Given the description of an element on the screen output the (x, y) to click on. 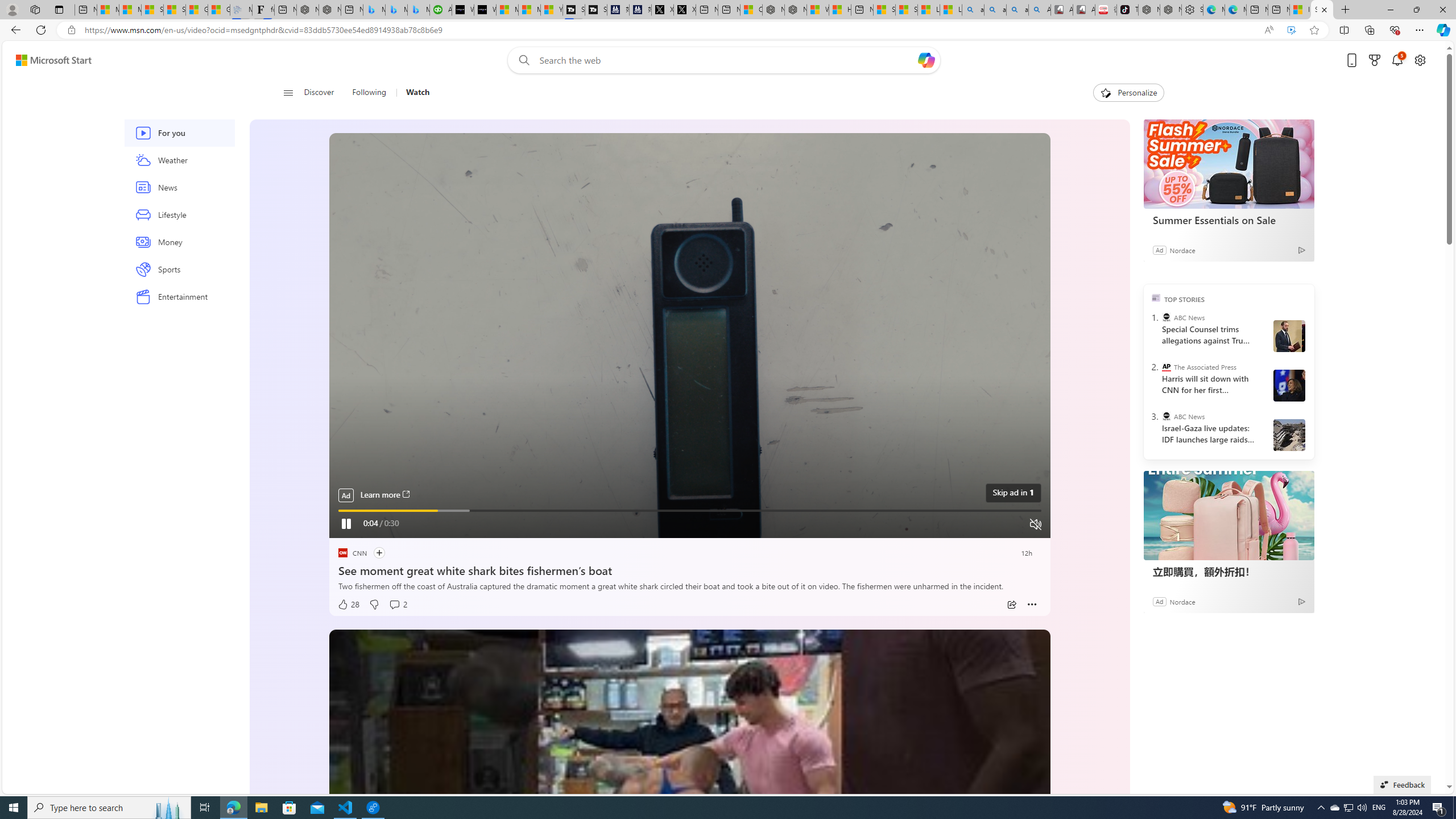
Enter your search term (726, 59)
Unmute (1035, 524)
Pause (345, 523)
amazon - Search Images (1017, 9)
